Given the description of an element on the screen output the (x, y) to click on. 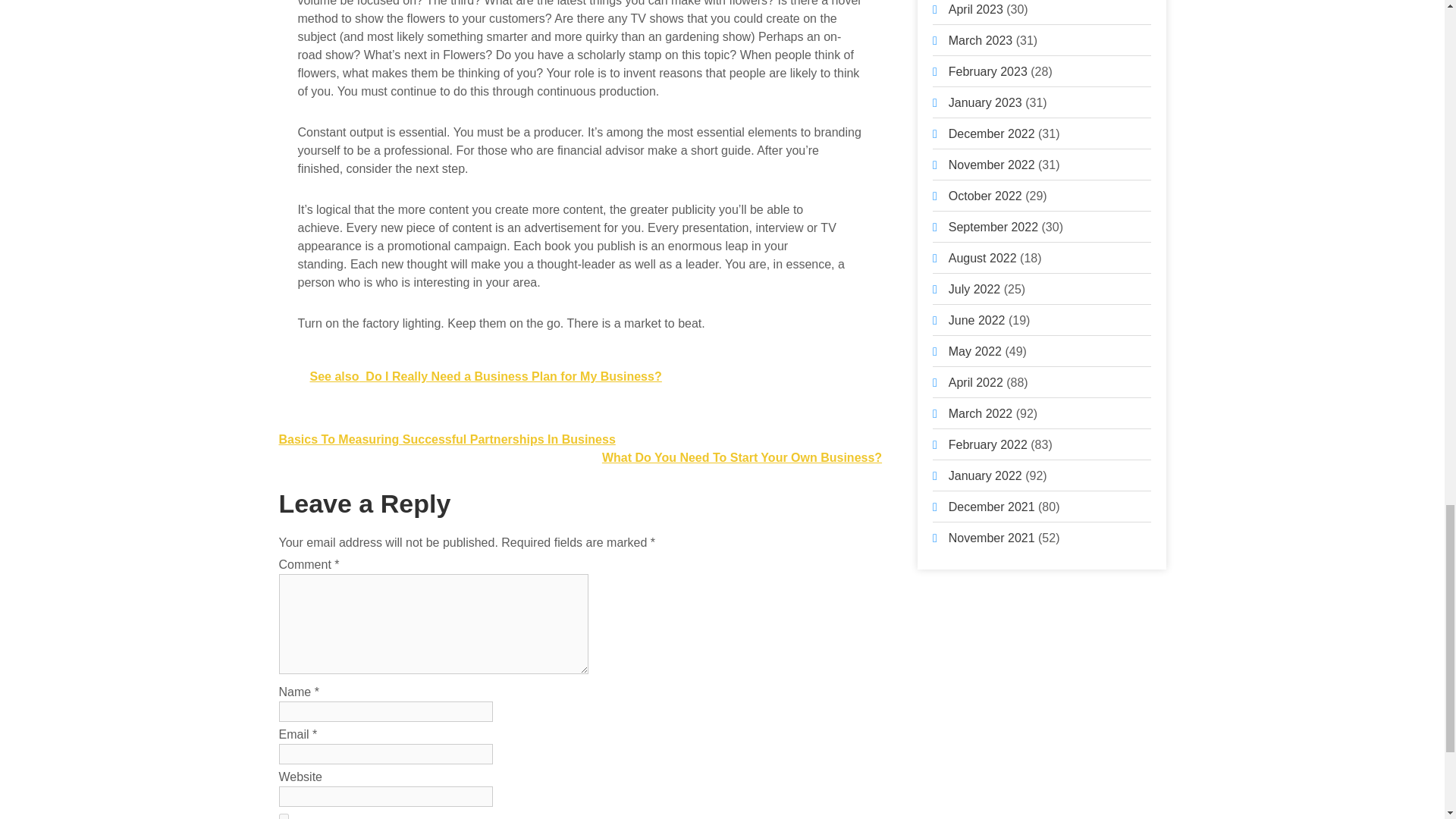
February 2022 (988, 444)
Basics To Measuring Successful Partnerships In Business (447, 439)
See also  Do I Really Need a Business Plan for My Business? (580, 376)
May 2022 (975, 350)
July 2022 (975, 288)
December 2022 (992, 133)
September 2022 (993, 226)
April 2023 (976, 9)
August 2022 (982, 257)
March 2023 (981, 40)
October 2022 (985, 195)
February 2023 (988, 71)
January 2023 (985, 102)
What Do You Need To Start Your Own Business? (742, 457)
March 2022 (981, 413)
